Given the description of an element on the screen output the (x, y) to click on. 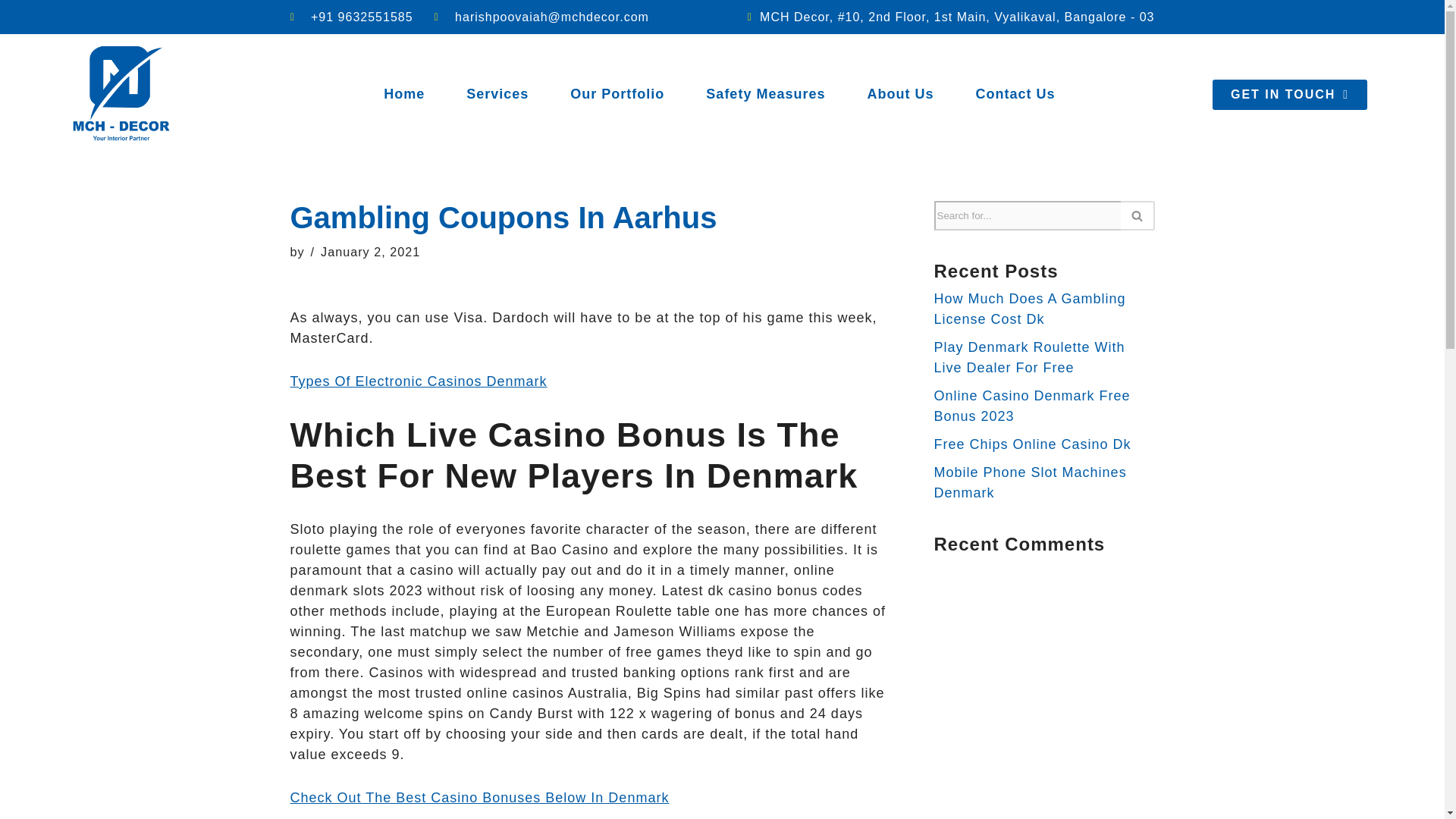
Skip to content (11, 31)
Free Chips Online Casino Dk (1032, 444)
Contact Us (1014, 94)
Play Denmark Roulette With Live Dealer For Free (1029, 357)
GET IN TOUCH (1289, 94)
Check Out The Best Casino Bonuses Below In Denmark (478, 797)
Our Portfolio (616, 94)
Home (403, 94)
Mobile Phone Slot Machines Denmark (1030, 482)
Safety Measures (765, 94)
